Given the description of an element on the screen output the (x, y) to click on. 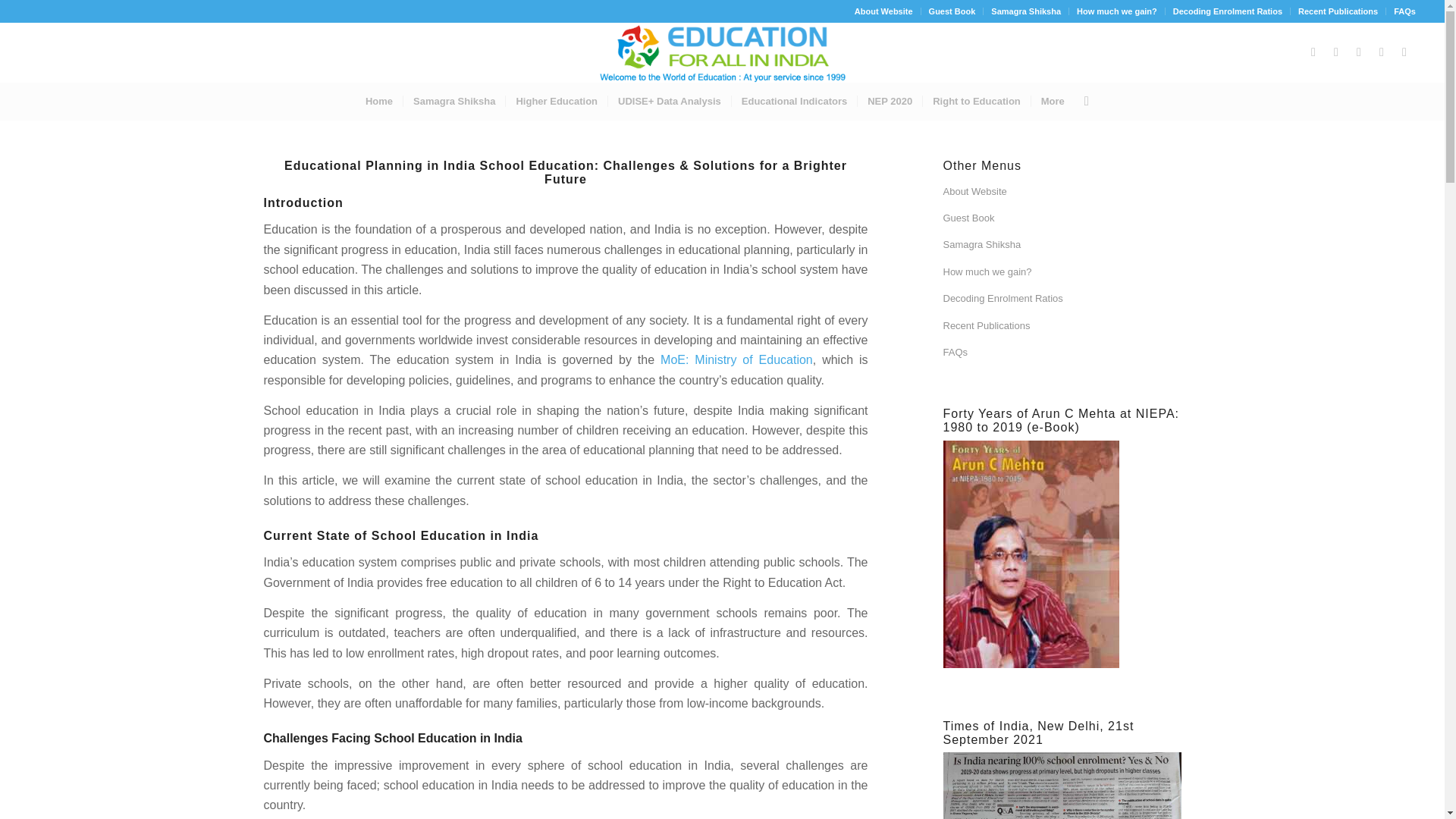
Guest Book (951, 11)
About Website (1061, 192)
Recent Publications (1337, 11)
Youtube (1381, 51)
Decoding Enrolment Ratios (1227, 11)
LinkedIn (1359, 51)
Samagra Shiksha (1061, 244)
FAQs (1404, 11)
Higher Education (556, 101)
How much we gain? (1117, 11)
